Given the description of an element on the screen output the (x, y) to click on. 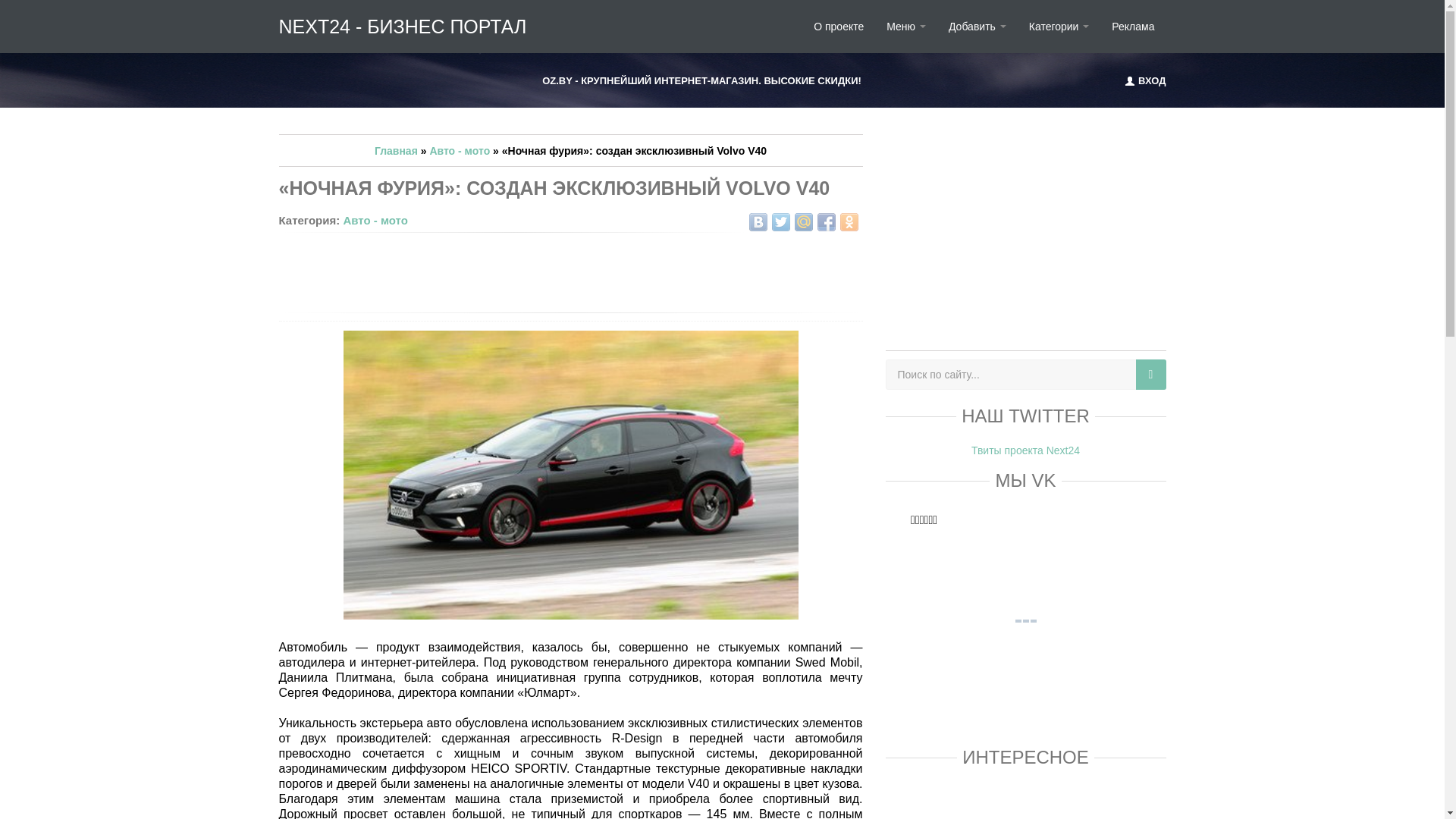
Advertisement Element type: hover (1024, 232)
Advertisement Element type: hover (570, 270)
